Given the description of an element on the screen output the (x, y) to click on. 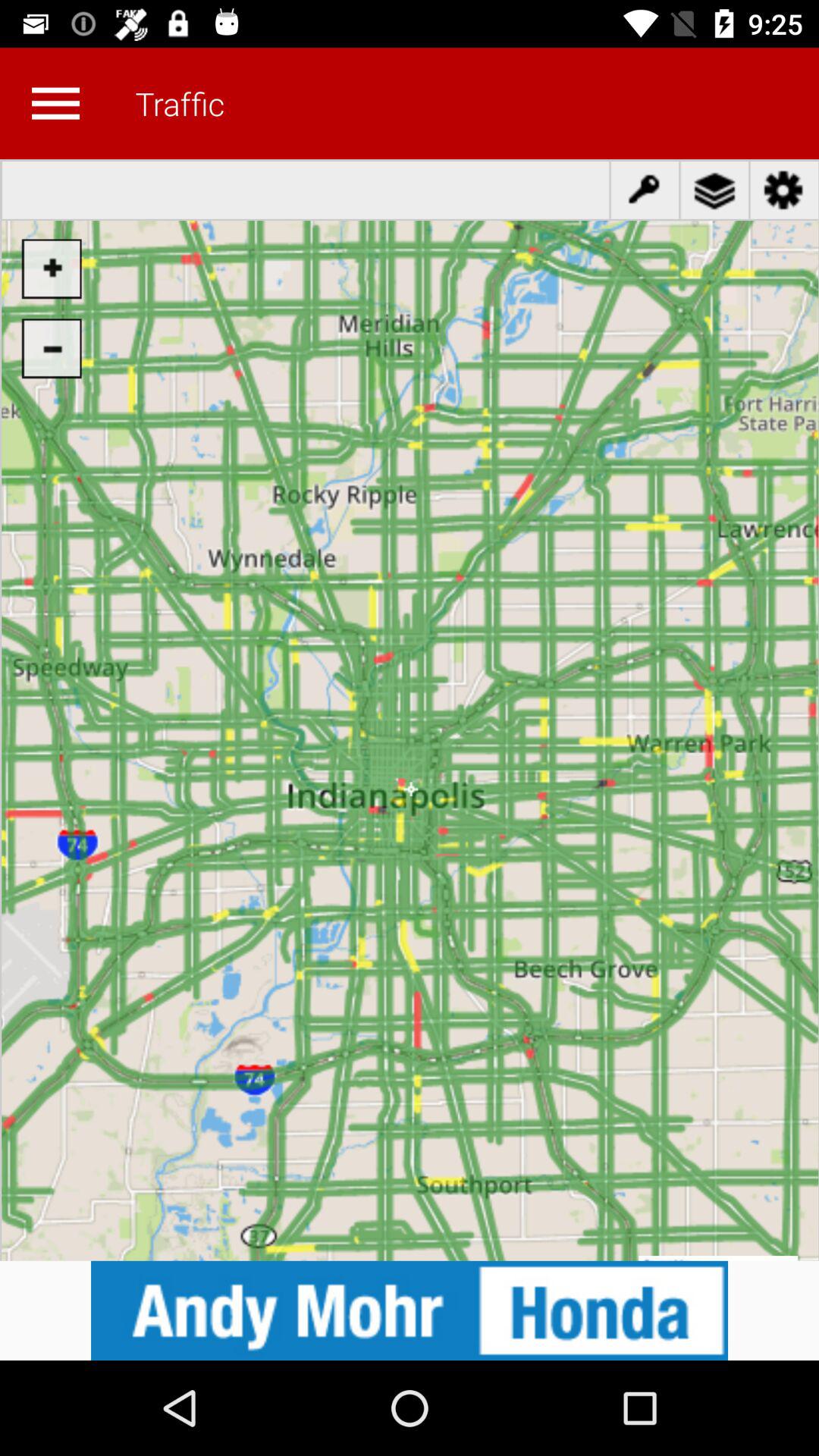
select icon at the top left corner (55, 103)
